Given the description of an element on the screen output the (x, y) to click on. 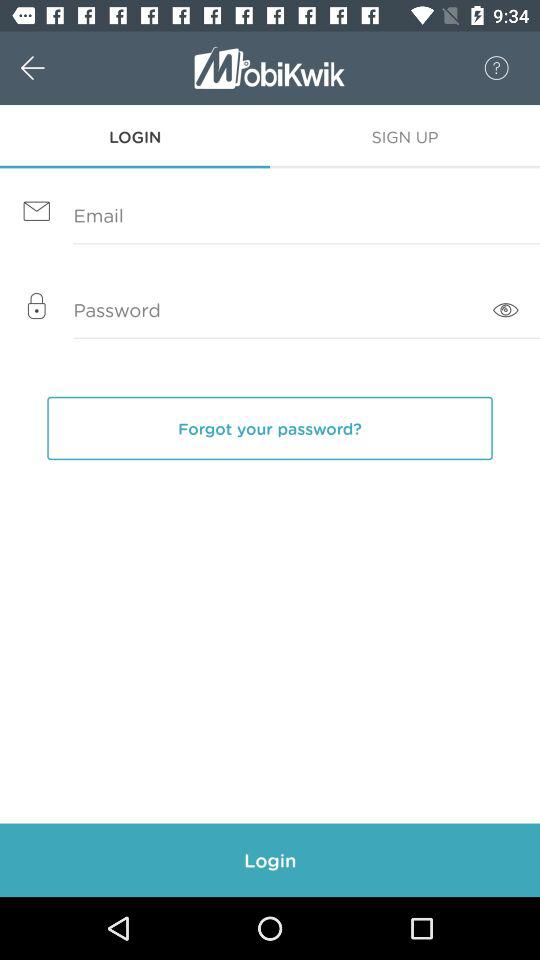
jump to the 8 icon (485, 68)
